Given the description of an element on the screen output the (x, y) to click on. 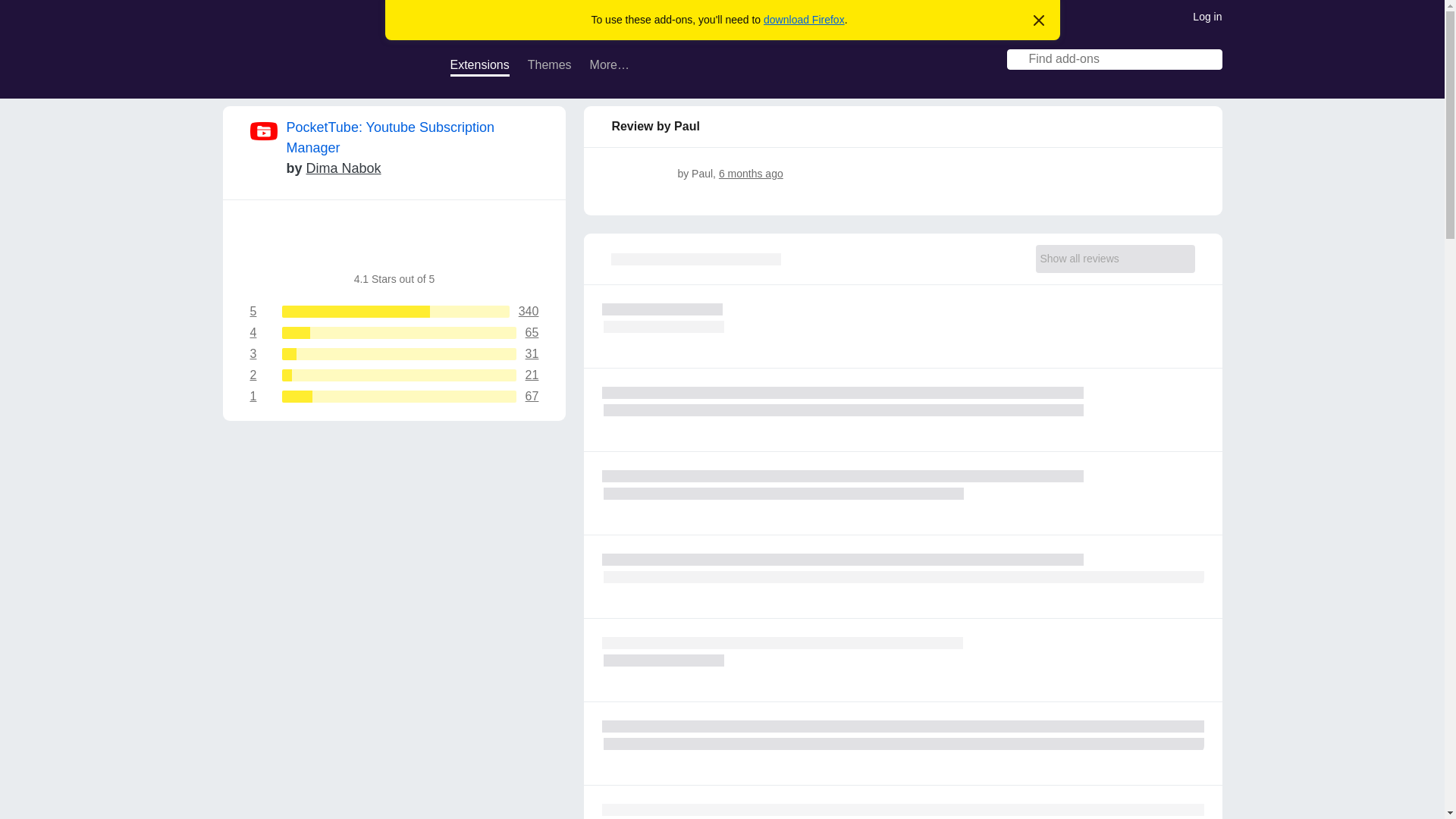
Rated 4.1 out of 5 (453, 242)
Read all 21 two-star reviews (394, 375)
Search (1212, 61)
Rated 5 out of 5 (641, 172)
Themes (549, 66)
Read all 67 one-star reviews (394, 396)
Jan 29, 2024 1:25 PM (751, 173)
download Firefox (803, 19)
Rated 5 out of 5 (628, 172)
Log in (1206, 14)
Dima Nabok (343, 168)
Read all 65 four-star reviews (394, 332)
Dismiss this notice (394, 375)
Rated 4.1 out of 5 (1038, 21)
